Given the description of an element on the screen output the (x, y) to click on. 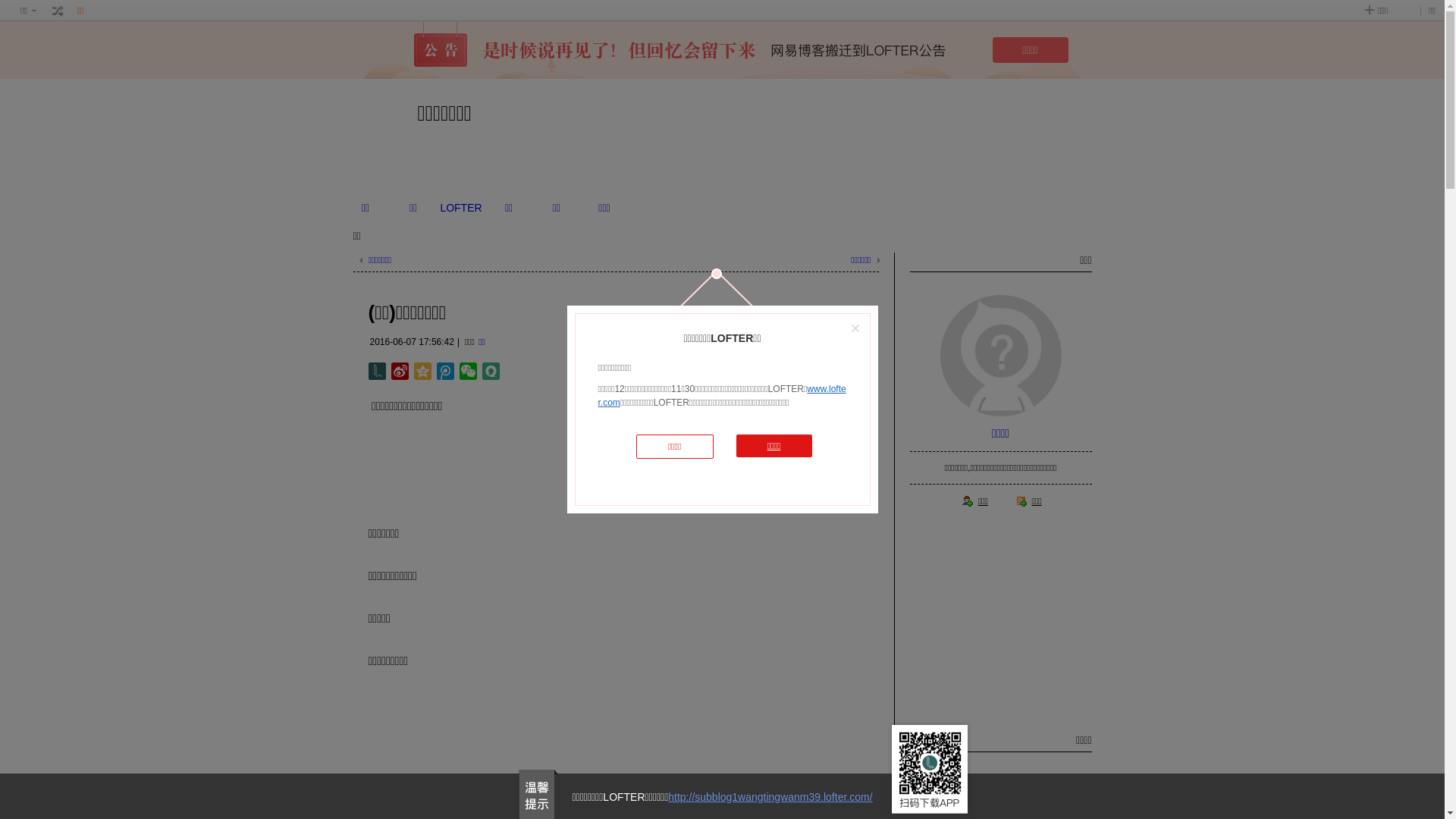
LOFTER Element type: text (460, 207)
http://subblog1wangtingwanm39.lofter.com/ Element type: text (770, 796)
www.lofter.com Element type: text (721, 395)
  Element type: text (58, 10)
